Given the description of an element on the screen output the (x, y) to click on. 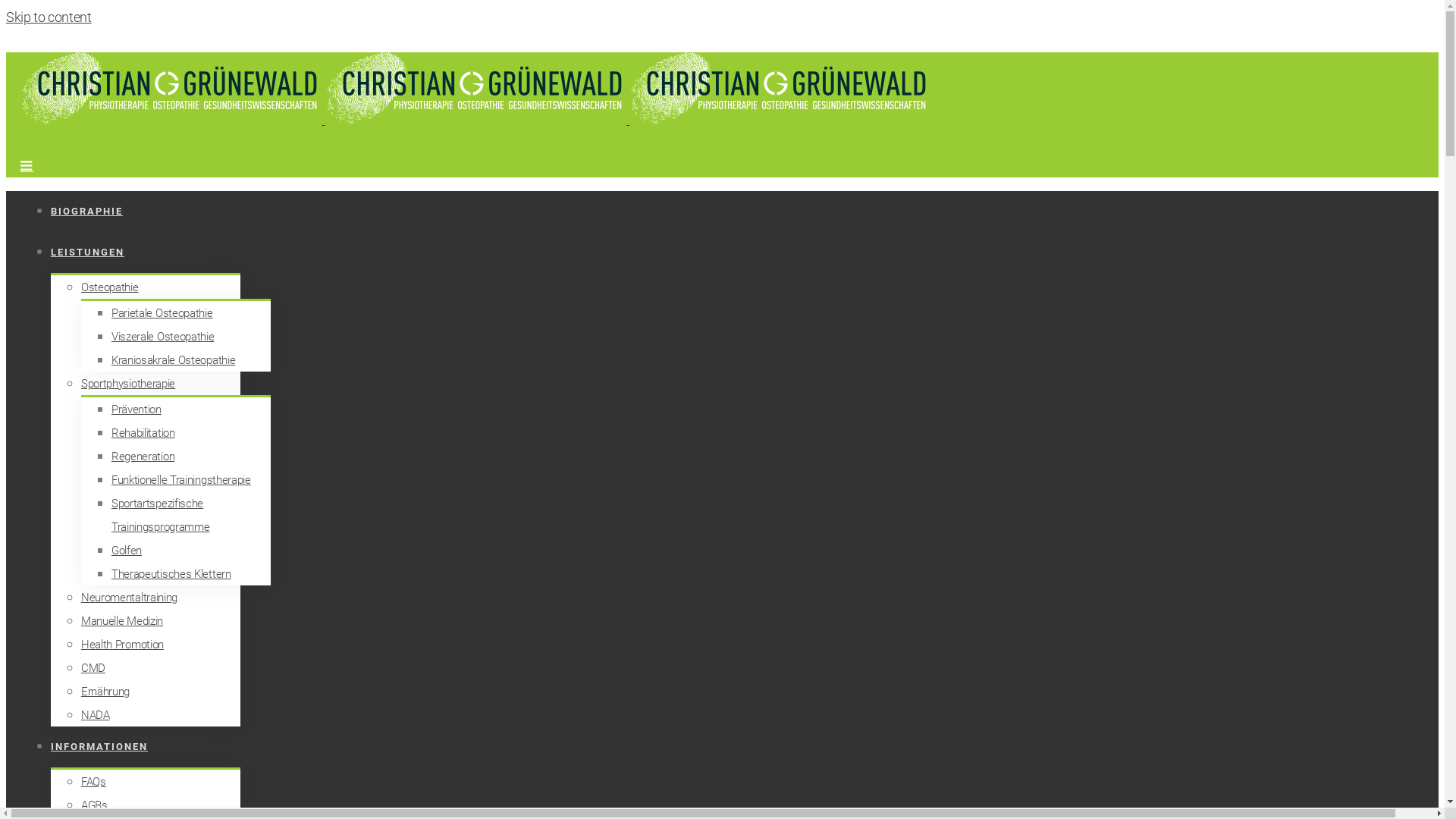
Viszerale Osteopathie Element type: text (162, 336)
Sportartspezifische Trainingsprogramme Element type: text (160, 515)
Skip to content Element type: text (48, 17)
BIOGRAPHIE Element type: text (86, 210)
Funktionelle Trainingstherapie Element type: text (181, 479)
INFORMATIONEN Element type: text (98, 746)
Golfen Element type: text (126, 550)
LEISTUNGEN Element type: text (87, 251)
Regeneration Element type: text (142, 456)
Rehabilitation Element type: text (143, 432)
Manuelle Medizin Element type: text (122, 620)
NADA Element type: text (95, 714)
Parietale Osteopathie Element type: text (162, 312)
Neuromentaltraining Element type: text (129, 597)
Kraniosakrale Osteopathie Element type: text (173, 359)
Sportphysiotherapie Element type: text (128, 383)
Health Promotion Element type: text (122, 644)
FAQs Element type: text (93, 781)
CMD Element type: text (93, 667)
Osteopathie Element type: text (109, 286)
Therapeutisches Klettern Element type: text (171, 573)
